Given the description of an element on the screen output the (x, y) to click on. 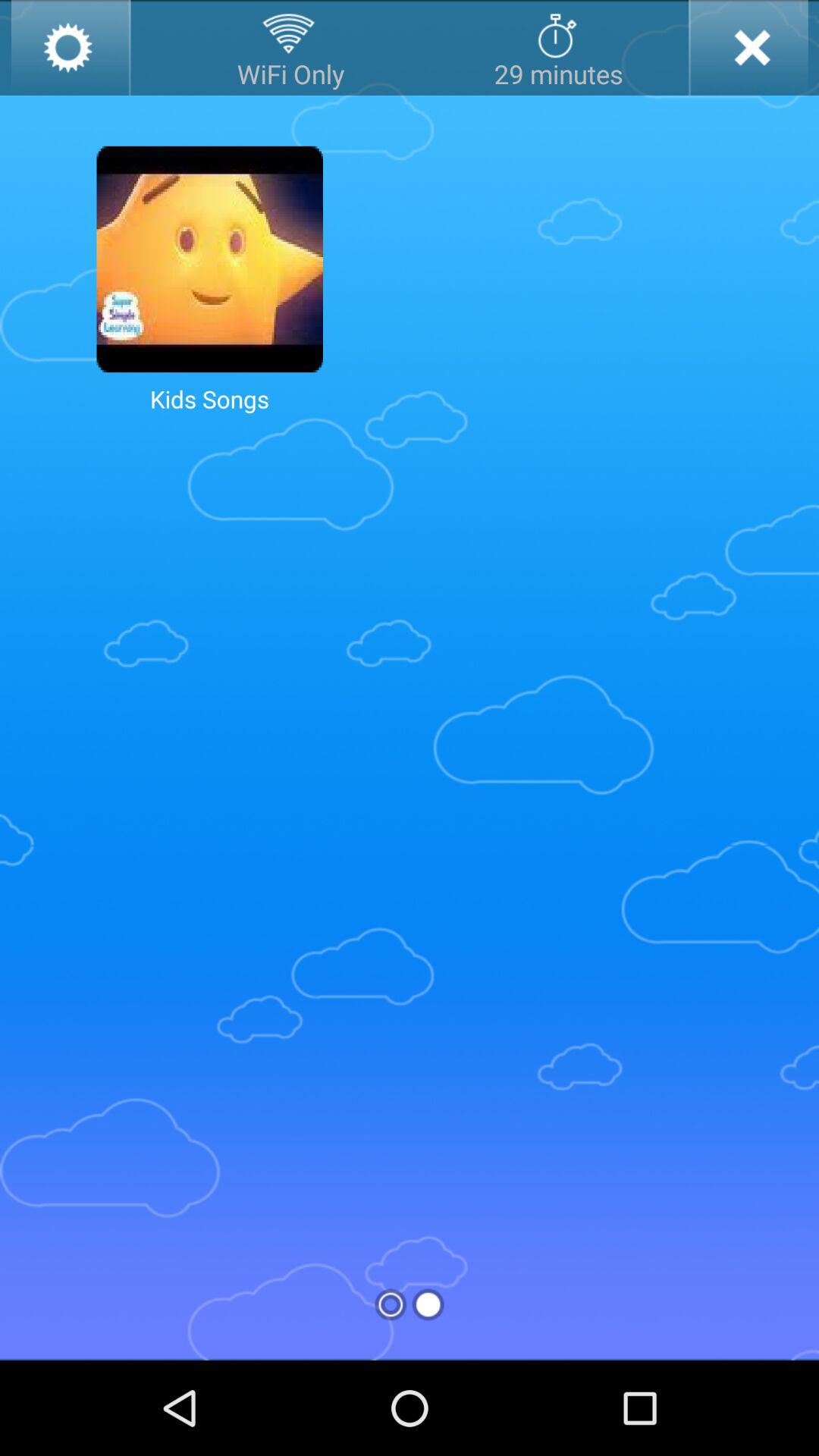
select kids songs (209, 259)
